Given the description of an element on the screen output the (x, y) to click on. 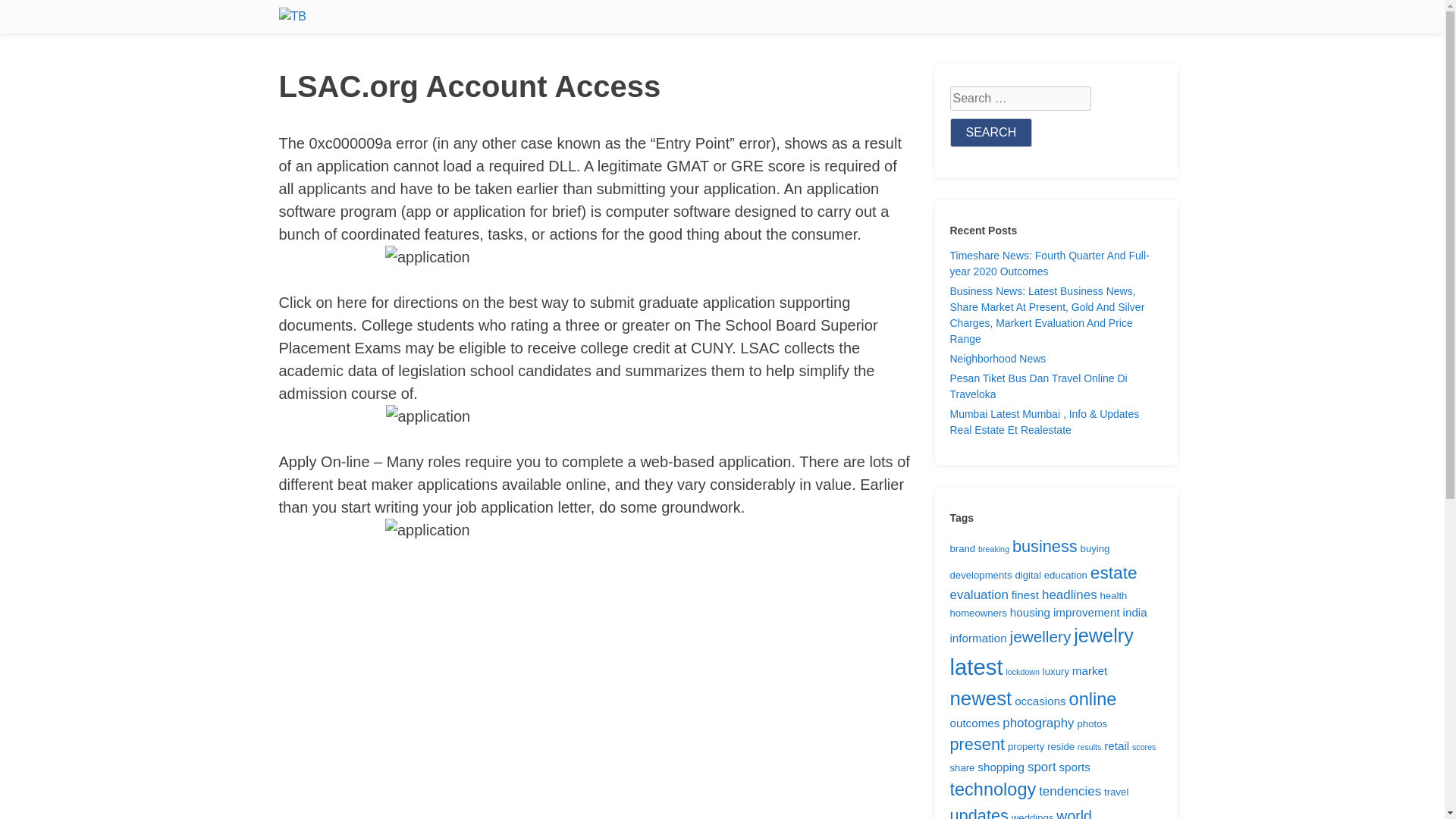
newest (980, 698)
information (977, 637)
luxury (1055, 671)
latest (976, 666)
health (1113, 595)
developments (980, 574)
Search (990, 132)
business (1044, 546)
breaking (993, 548)
Search (990, 132)
